Given the description of an element on the screen output the (x, y) to click on. 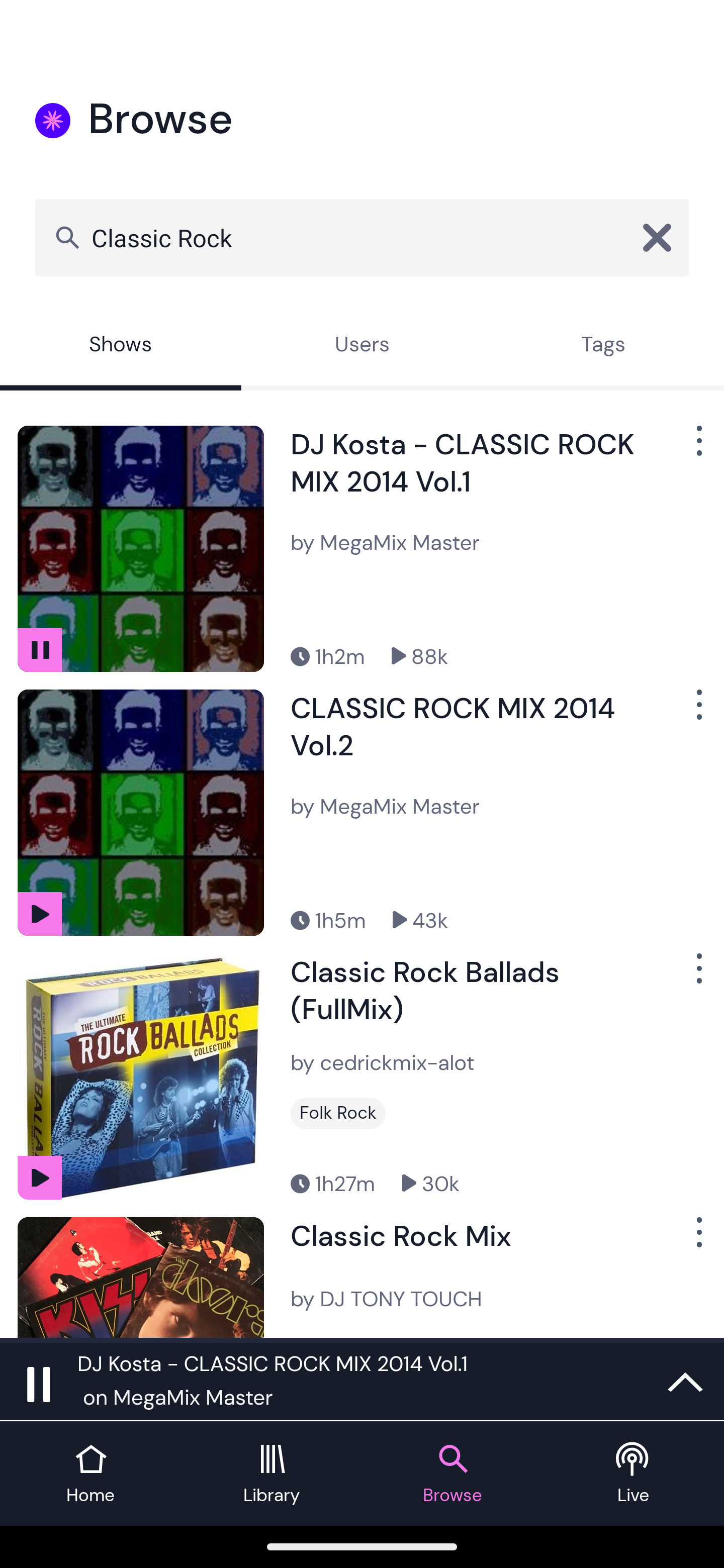
Classic Rock (361, 237)
Shows (120, 346)
Users (361, 346)
Tags (603, 346)
Show Options Menu Button (697, 447)
Show Options Menu Button (697, 712)
Show Options Menu Button (697, 975)
Folk Rock (337, 1112)
Show Options Menu Button (697, 1239)
Home tab Home (90, 1473)
Library tab Library (271, 1473)
Browse tab Browse (452, 1473)
Live tab Live (633, 1473)
